Given the description of an element on the screen output the (x, y) to click on. 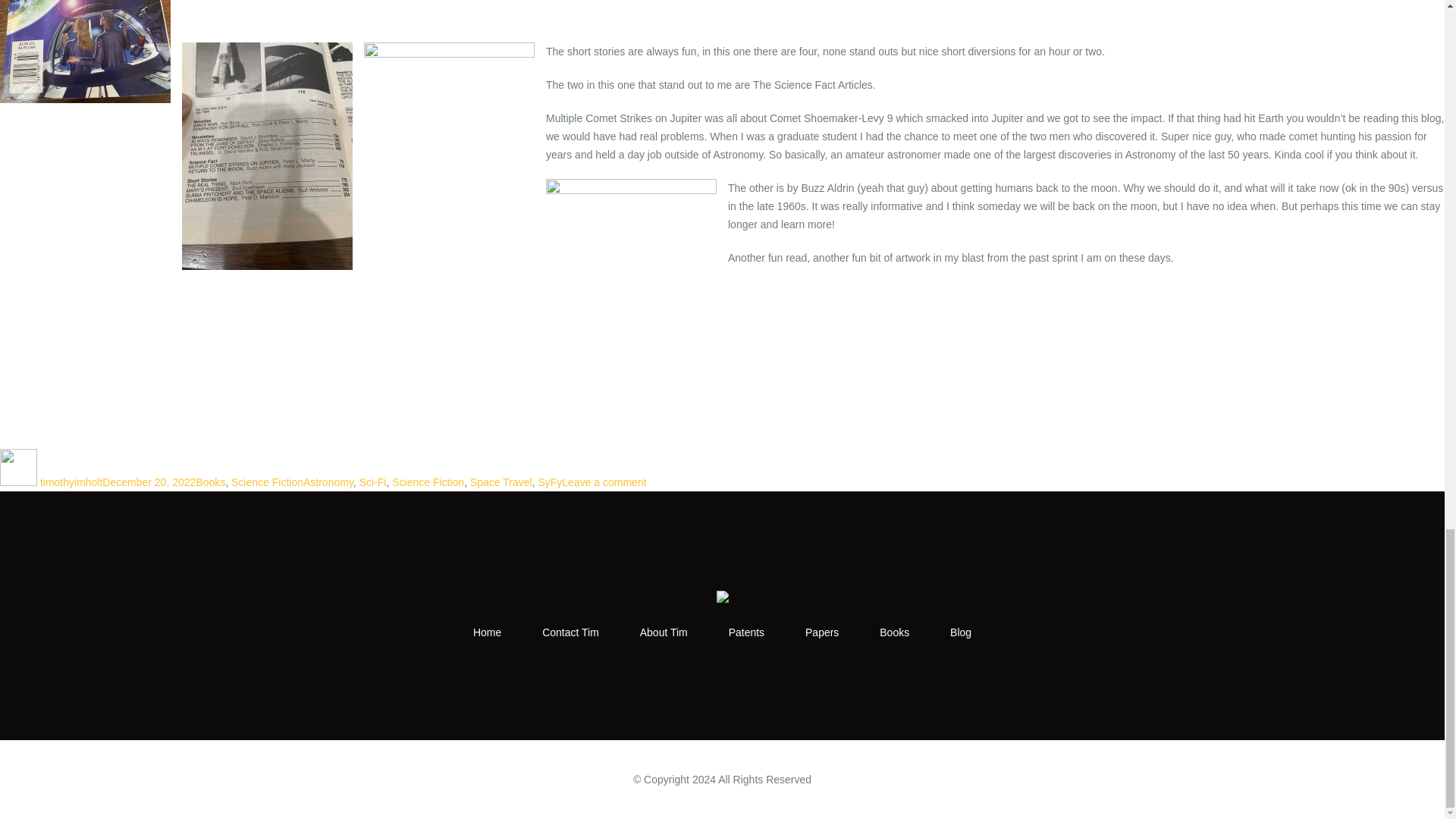
Space Travel (501, 481)
Books (893, 632)
Science Fiction (427, 481)
Patents (746, 632)
Home (486, 632)
Blog (960, 632)
Sci-Fi (373, 481)
Astronomy (327, 481)
Contact Tim (569, 632)
Papers (821, 632)
Science Fiction (266, 481)
SyFy (549, 481)
About Tim (663, 632)
timothyimholt (70, 481)
Books (210, 481)
